Given the description of an element on the screen output the (x, y) to click on. 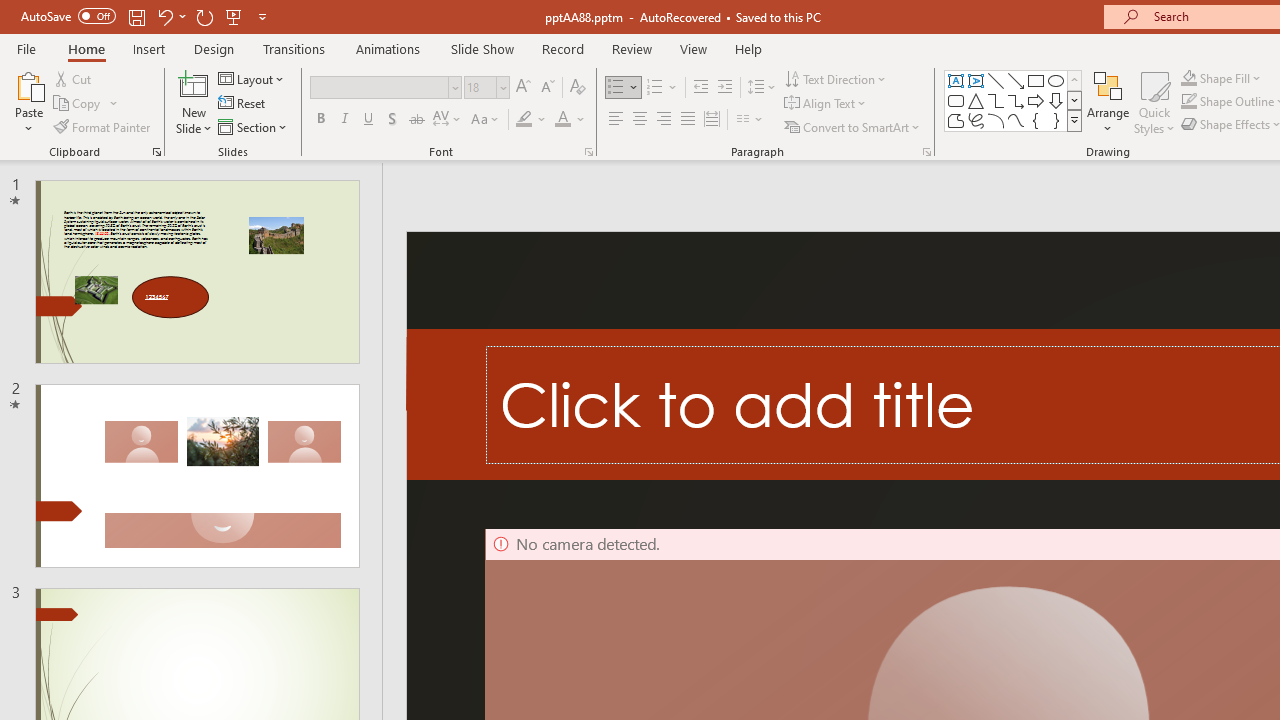
Shape Outline Teal, Accent 1 (1188, 101)
